Given the description of an element on the screen output the (x, y) to click on. 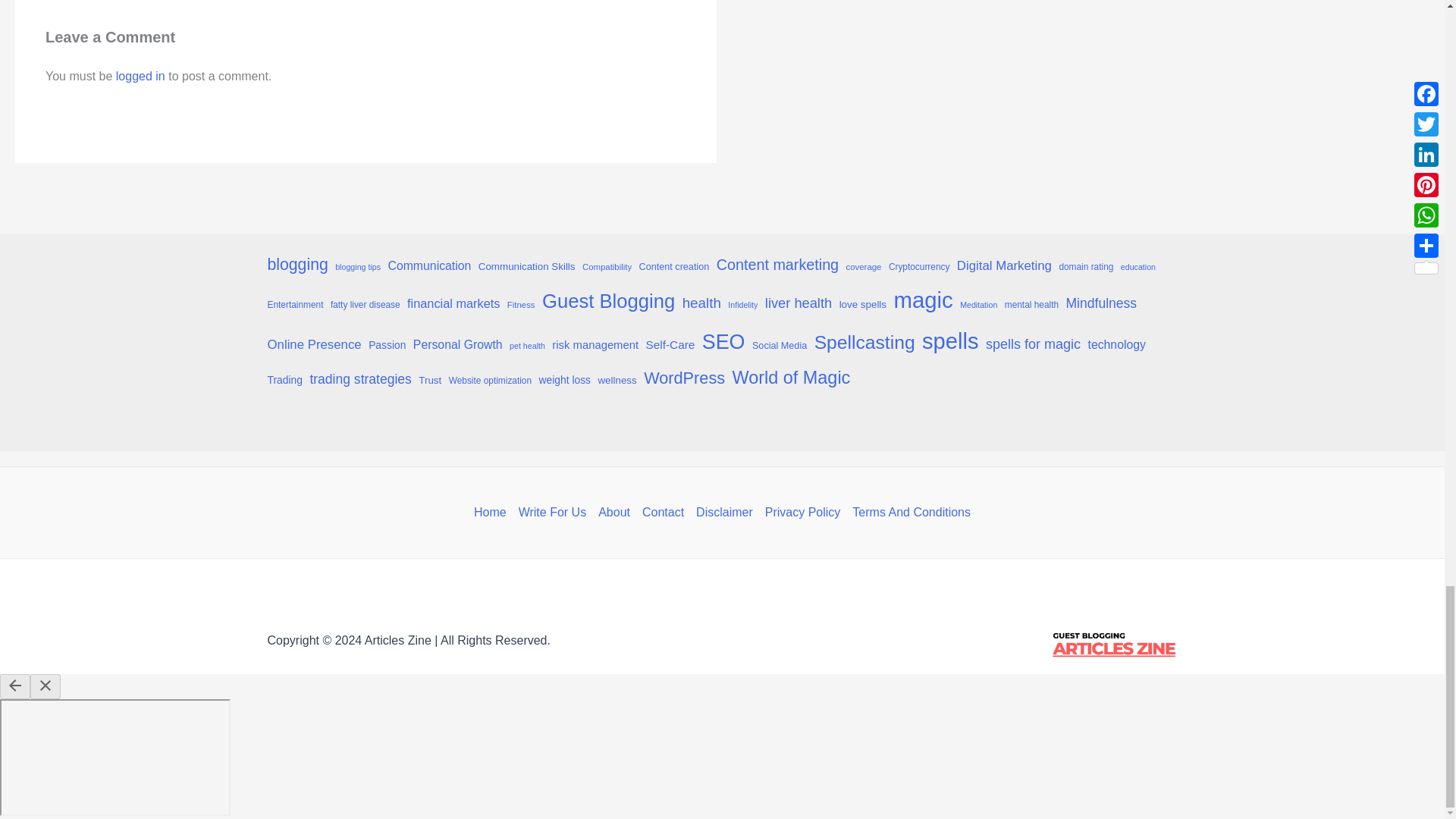
logged in (140, 74)
